Given the description of an element on the screen output the (x, y) to click on. 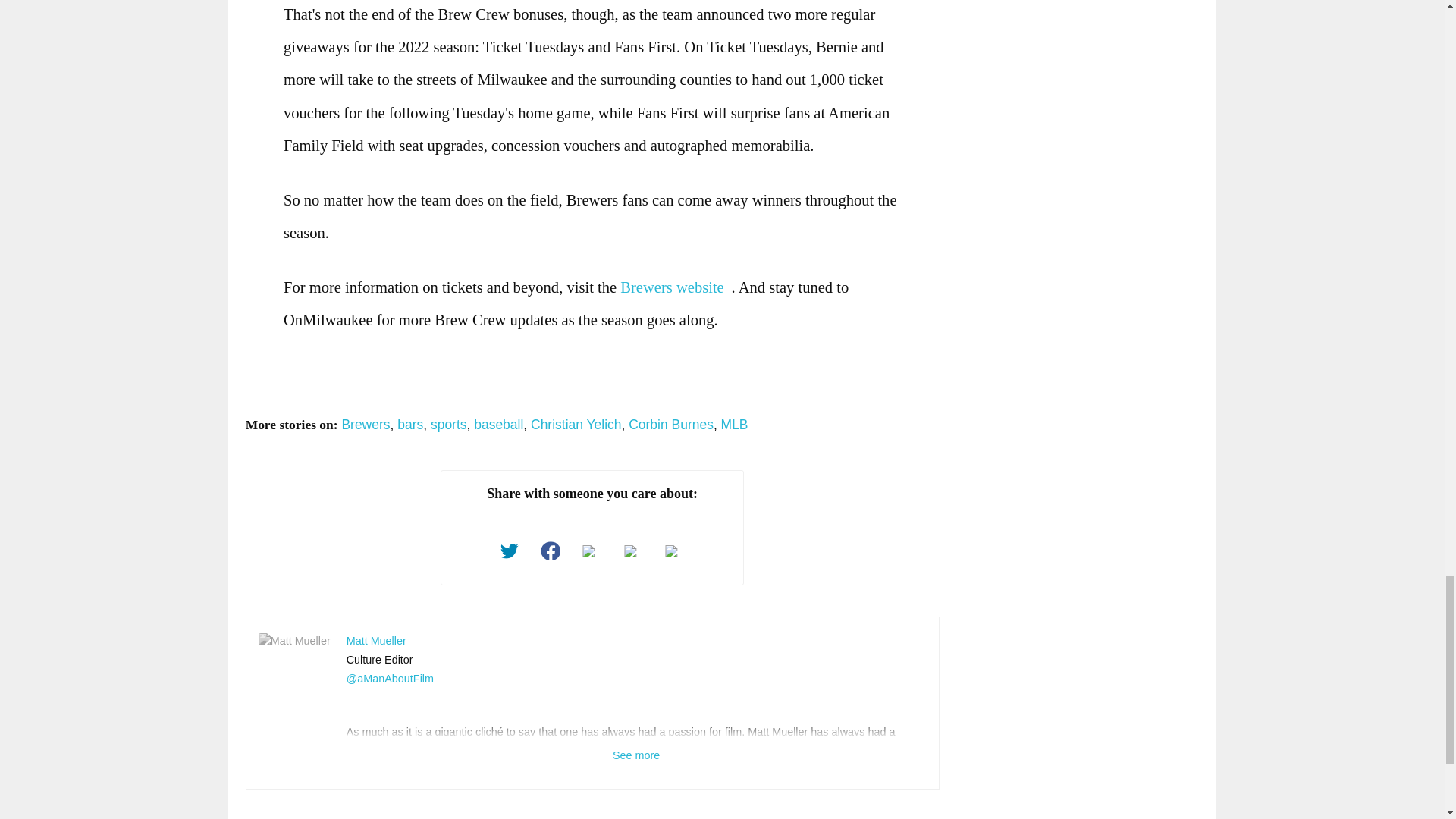
baseball (498, 424)
Corbin Burnes (670, 424)
sports (448, 424)
Matt Mueller (376, 639)
bars (410, 424)
Brewers website (675, 287)
Christian Yelich (576, 424)
More articles by Matt Mueller (376, 639)
